Given the description of an element on the screen output the (x, y) to click on. 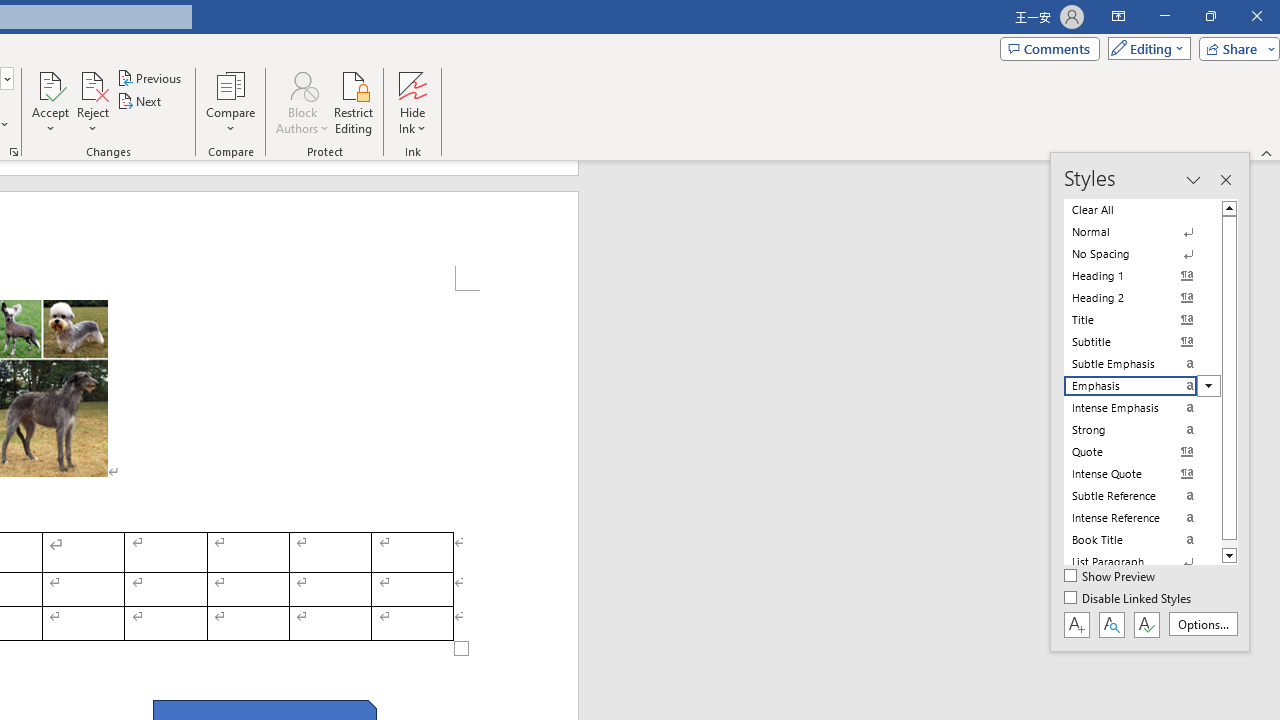
Restrict Editing (353, 102)
Hide Ink (412, 84)
Accept (50, 102)
Intense Reference (1142, 517)
